Given the description of an element on the screen output the (x, y) to click on. 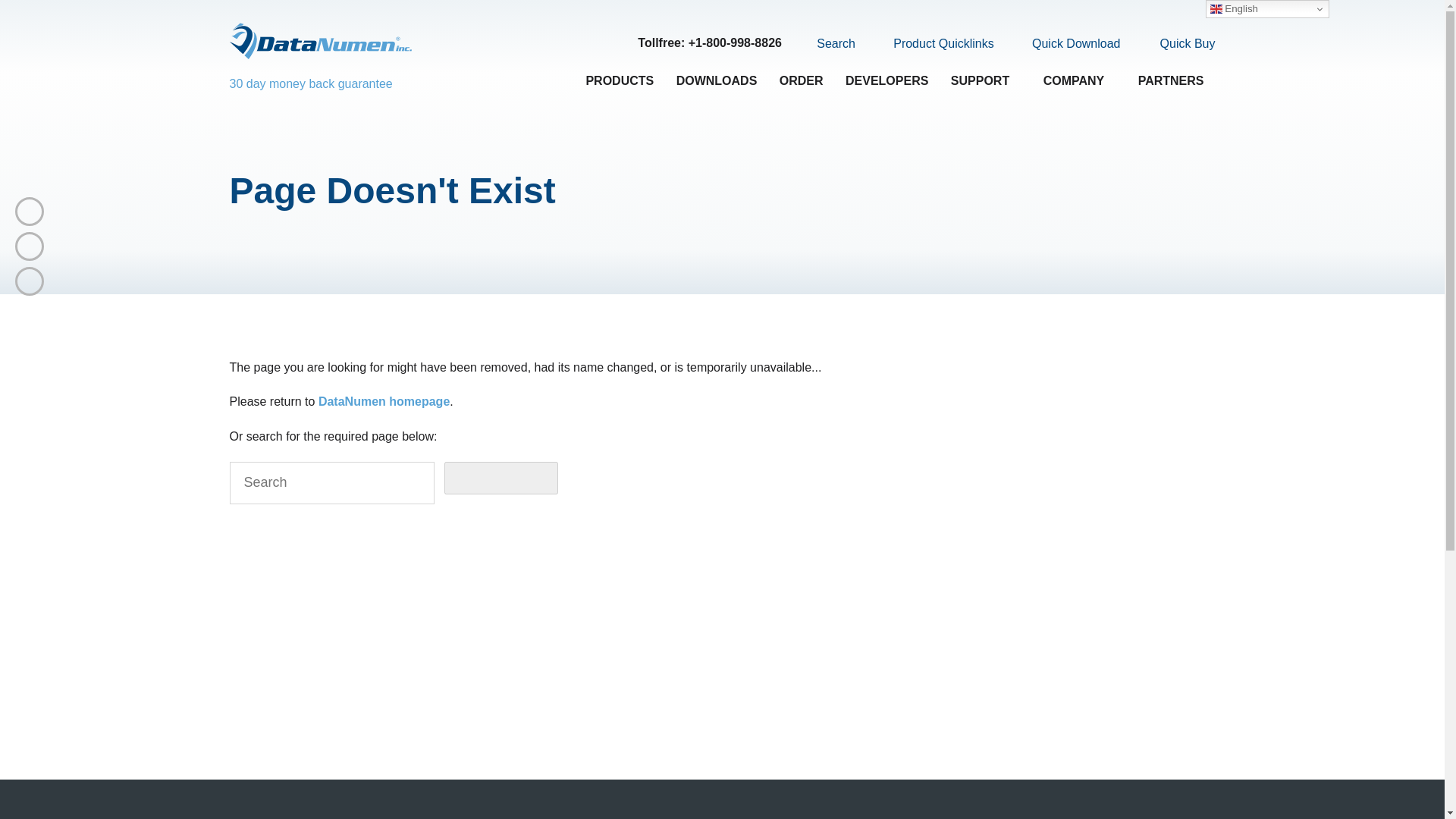
Product Quicklinks (934, 44)
Quick Download (1066, 44)
Search for: (330, 482)
Search (827, 43)
